Given the description of an element on the screen output the (x, y) to click on. 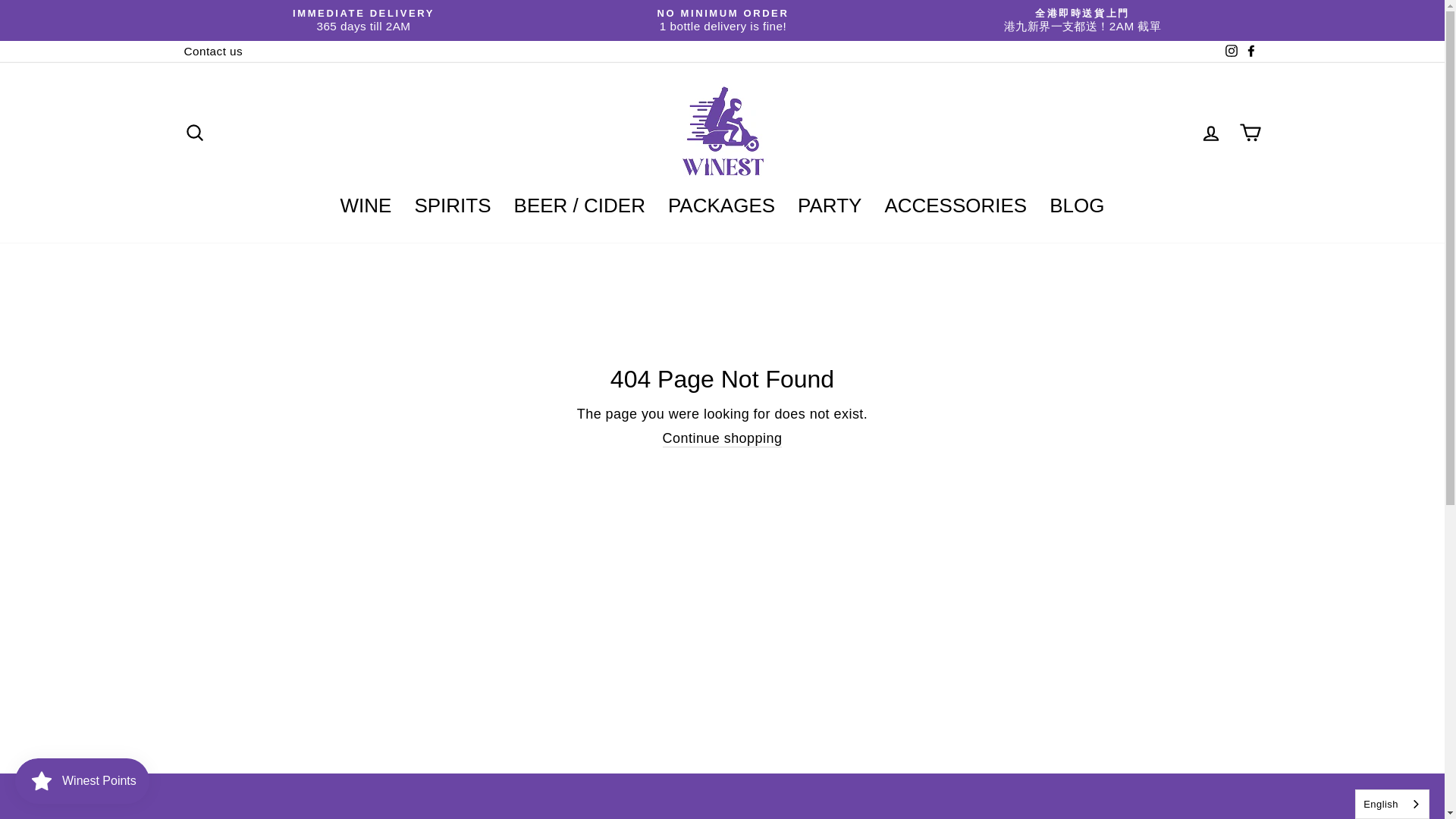
Winest.HK on Instagram (1230, 51)
Smile.io Rewards Program Launcher (81, 780)
Winest.HK on Facebook (1250, 51)
